Given the description of an element on the screen output the (x, y) to click on. 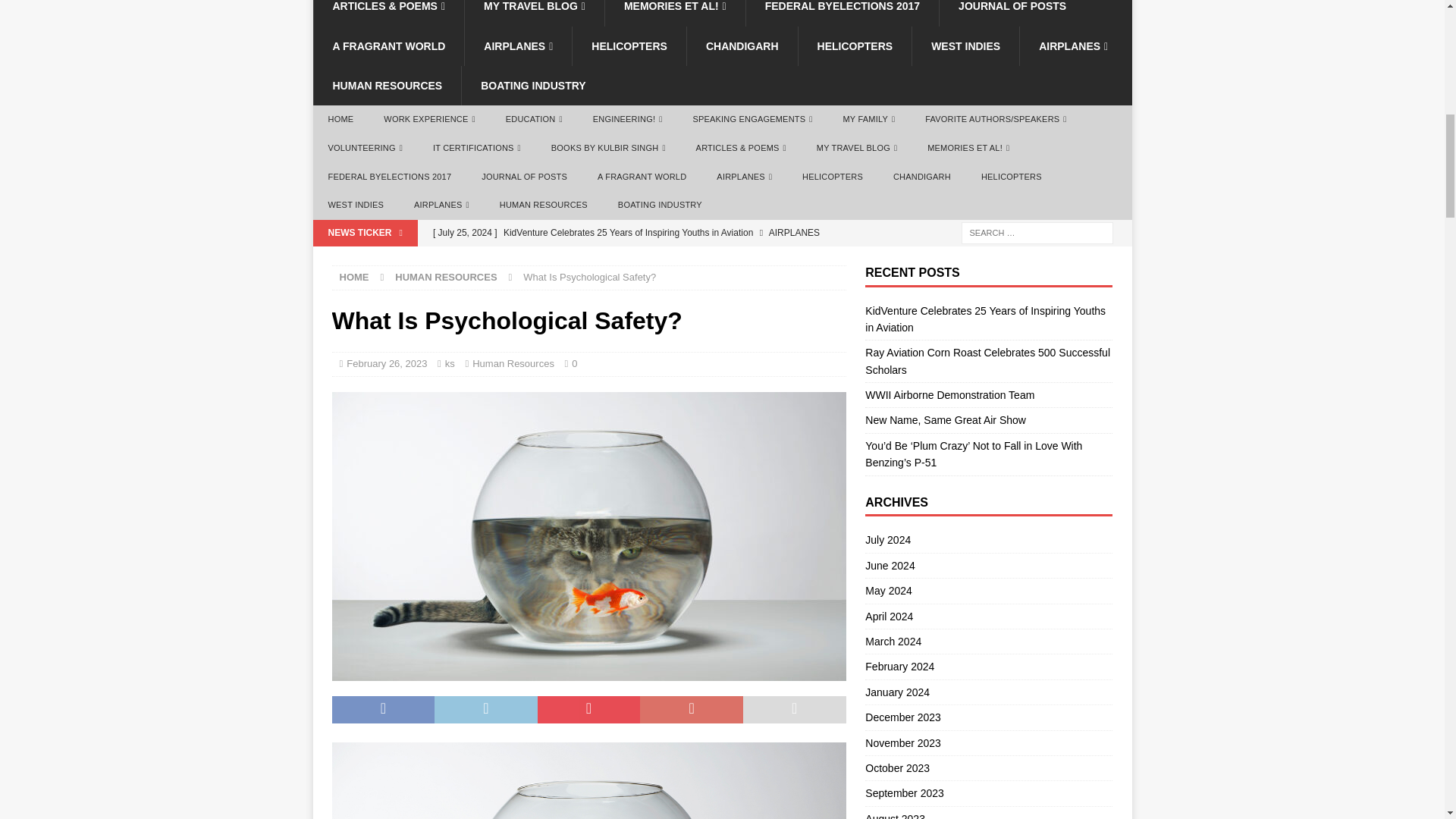
Ray Aviation Corn Roast Celebrates 500 Successful Scholars (634, 254)
